Given the description of an element on the screen output the (x, y) to click on. 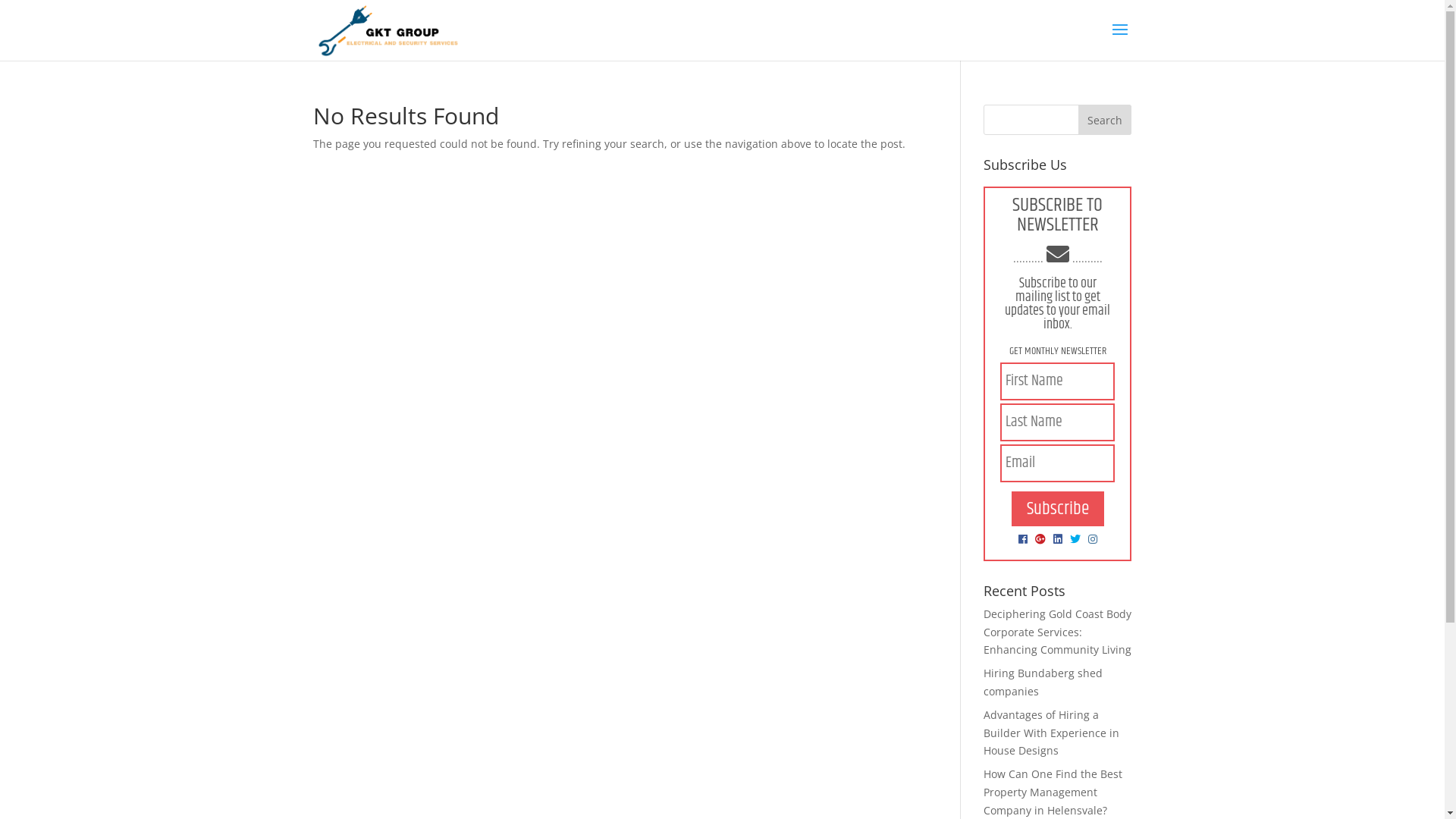
Search Element type: text (1104, 119)
Hiring Bundaberg shed companies Element type: text (1042, 681)
Subscribe Element type: text (1057, 508)
